Given the description of an element on the screen output the (x, y) to click on. 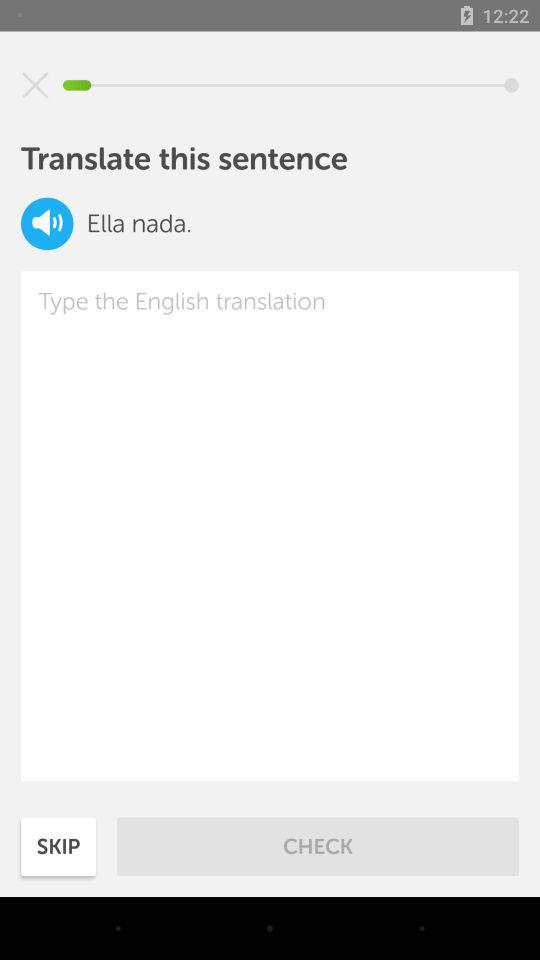
play audio of sentence (47, 223)
